Given the description of an element on the screen output the (x, y) to click on. 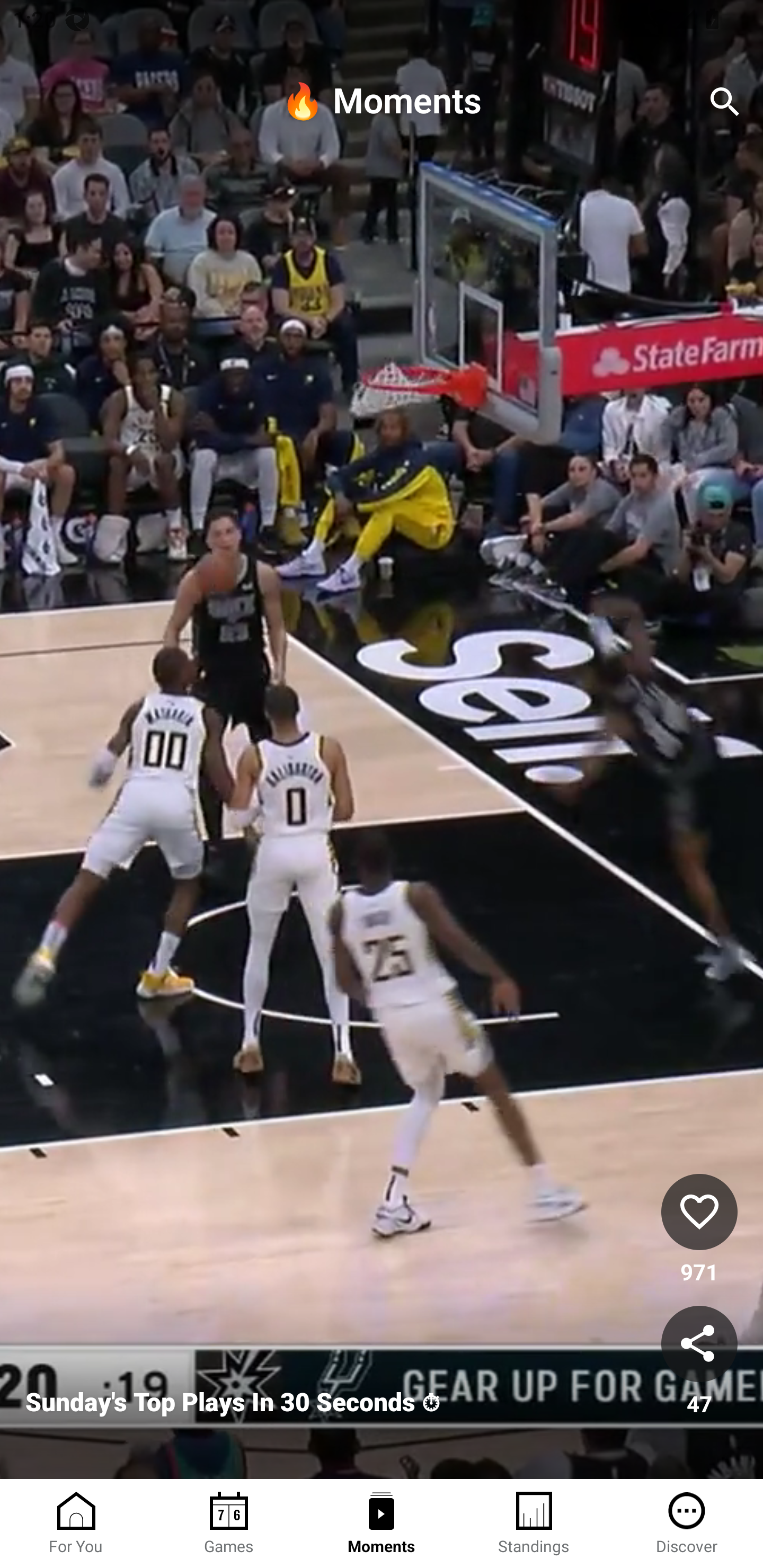
search (724, 101)
like 971 971 Likes (699, 1230)
share 47 47 Shares (699, 1362)
For You (76, 1523)
Games (228, 1523)
Standings (533, 1523)
Discover (686, 1523)
